Given the description of an element on the screen output the (x, y) to click on. 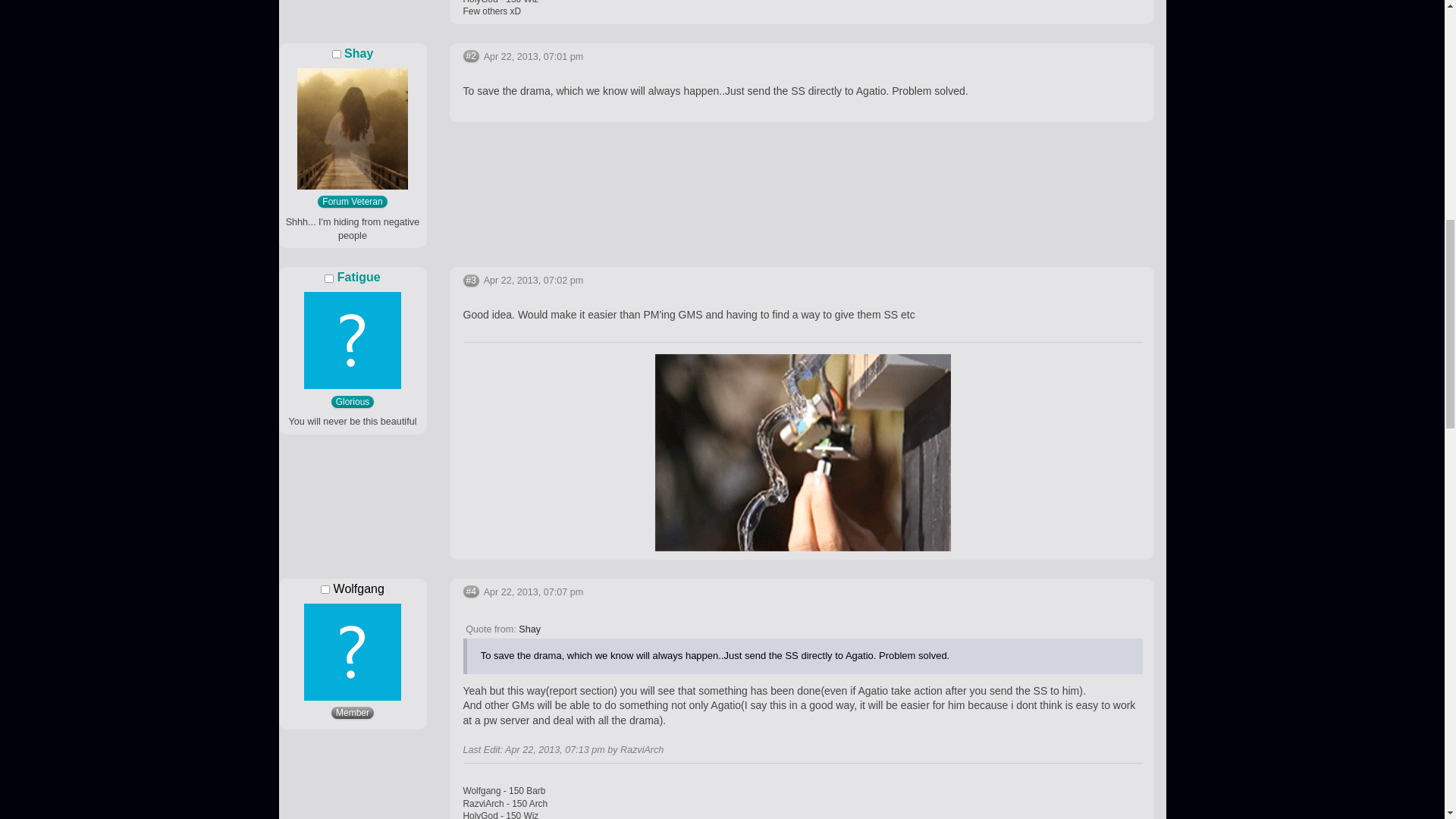
View the profile of Fatigue (358, 277)
View the profile of Wolfgang (358, 588)
View the profile of Shay (357, 52)
